Given the description of an element on the screen output the (x, y) to click on. 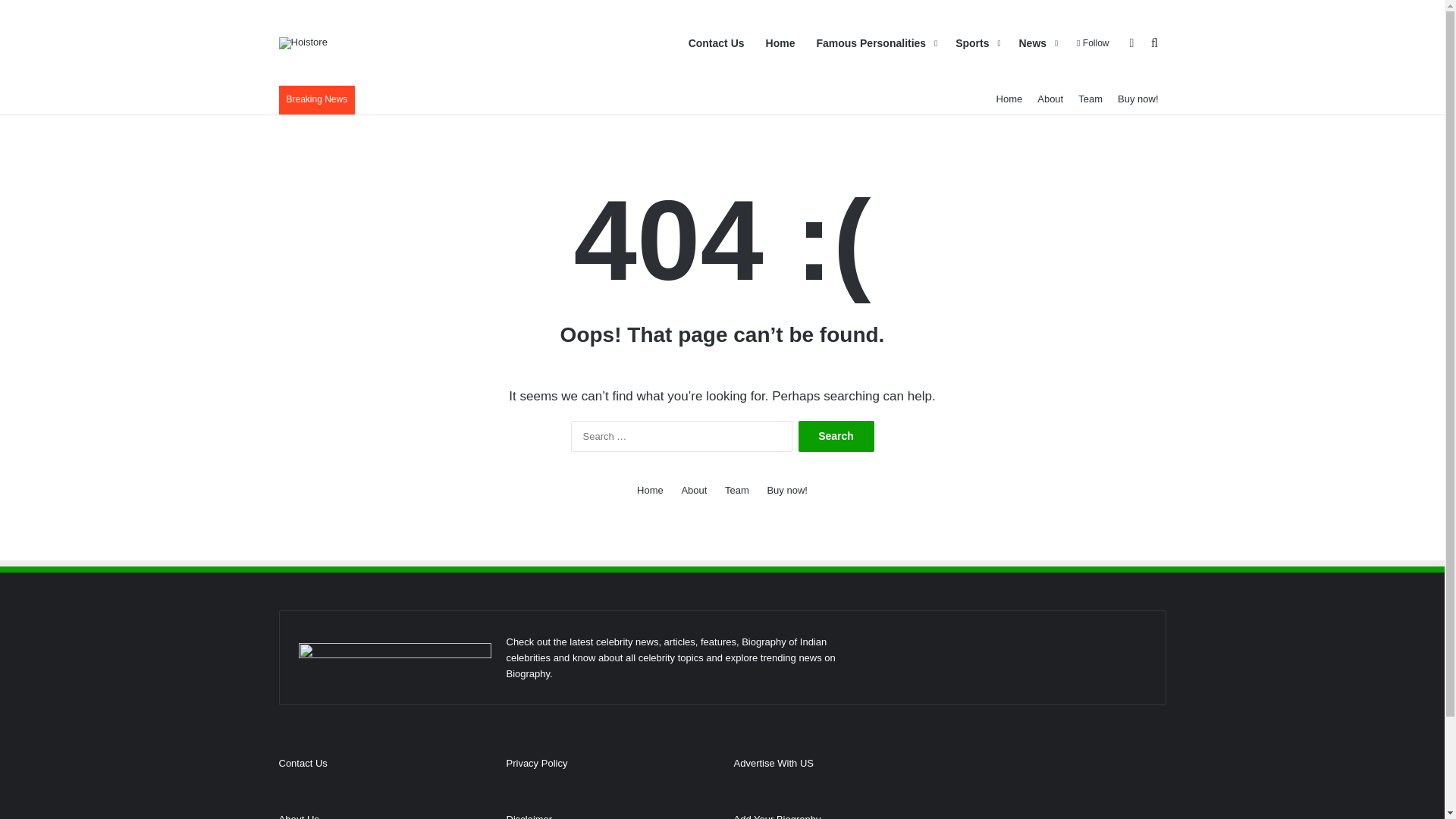
Search (835, 436)
Hoistore (303, 42)
Search (835, 436)
Contact Us (716, 42)
Buy now! (1137, 99)
Famous Personalities (874, 42)
Buy now! (786, 489)
